Given the description of an element on the screen output the (x, y) to click on. 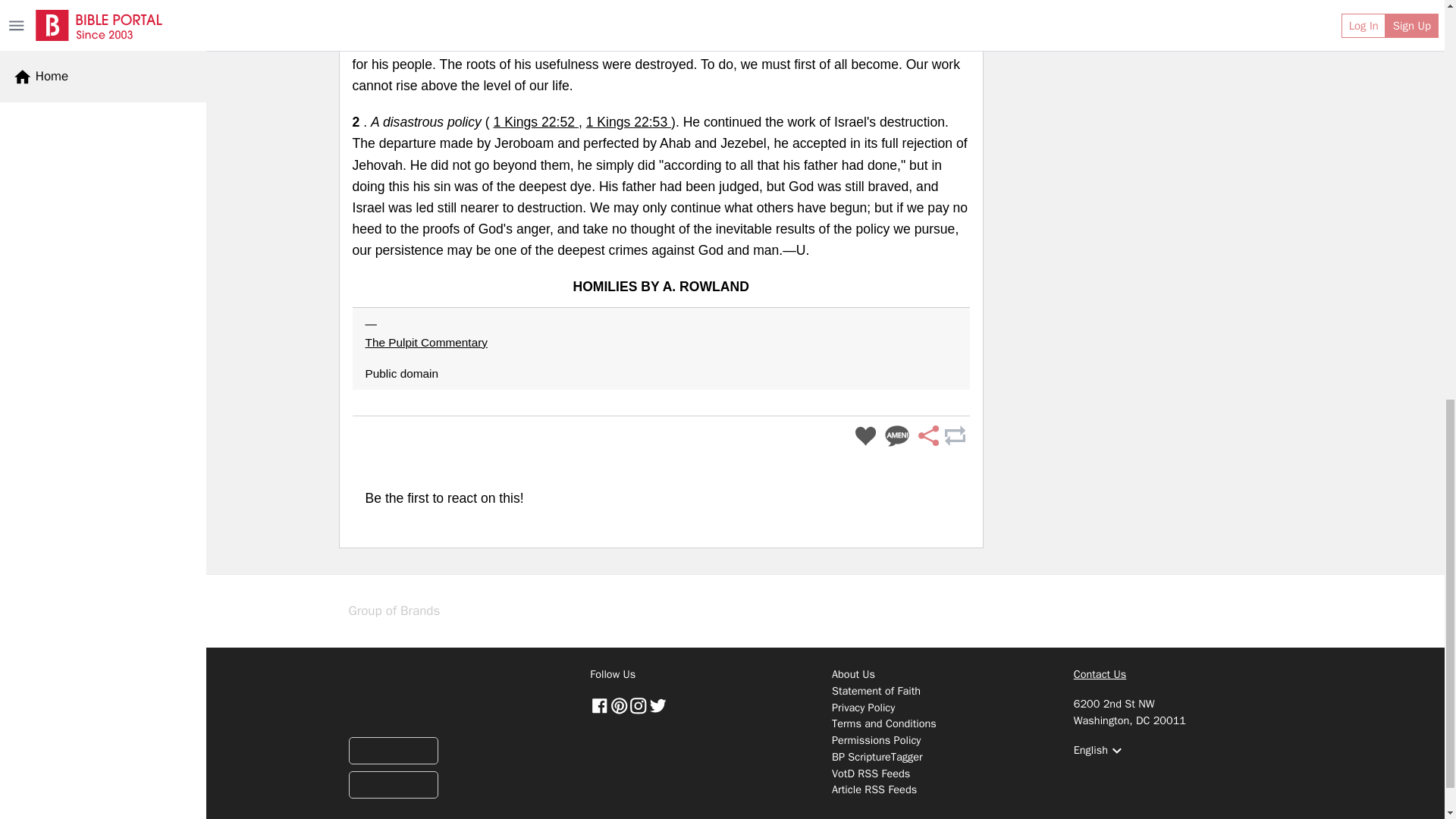
Repost (954, 436)
Amen (897, 436)
Bible Passages -  1 Kings 22:53  - click to view detail (628, 121)
Like (865, 436)
Bible Passages -  1 Kings 22:52  - click to view detail (535, 121)
